Given the description of an element on the screen output the (x, y) to click on. 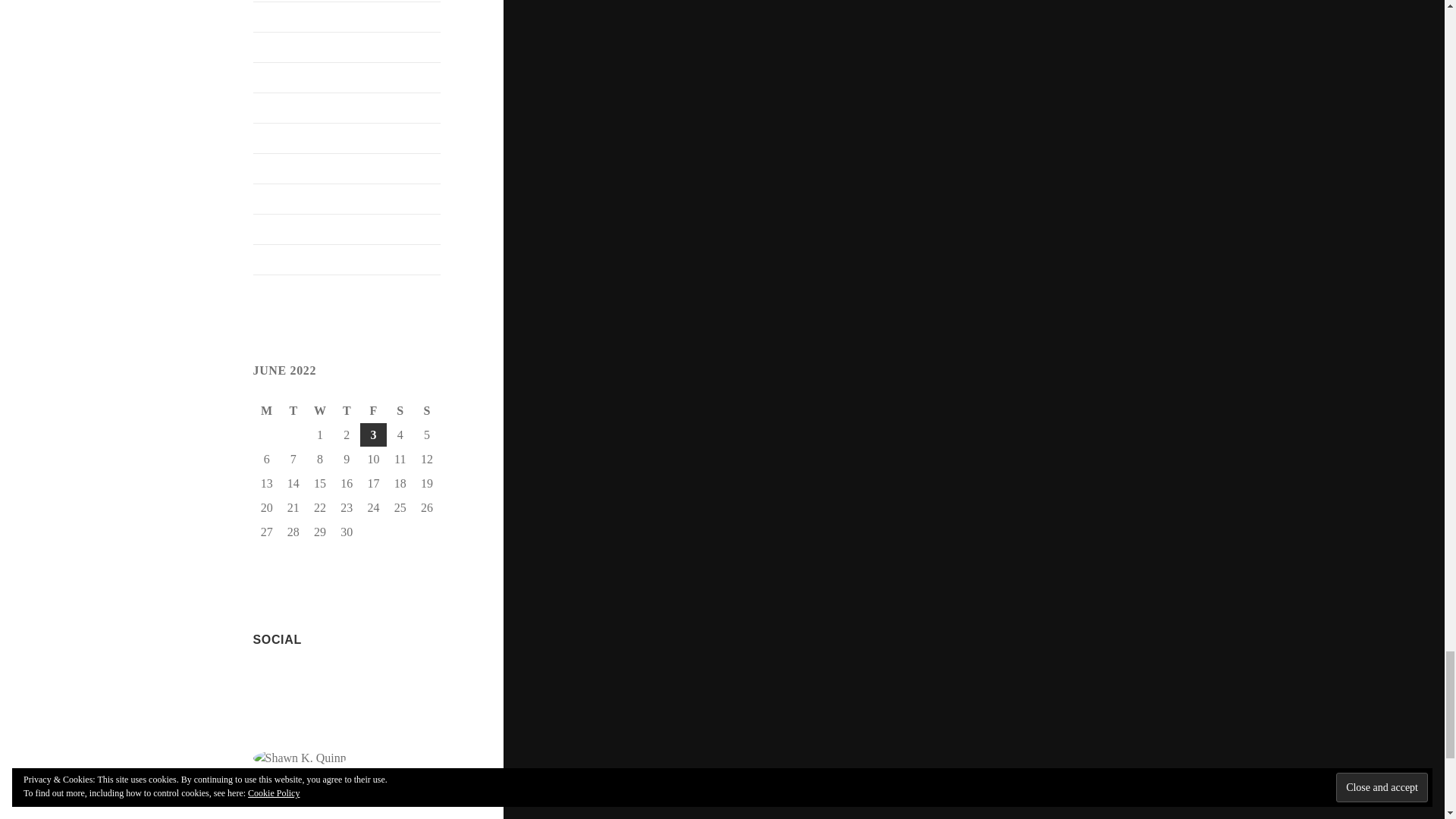
Tuesday (294, 410)
Thursday (346, 410)
Monday (267, 410)
Wednesday (320, 410)
Sunday (427, 410)
Friday (373, 410)
Saturday (400, 410)
